Given the description of an element on the screen output the (x, y) to click on. 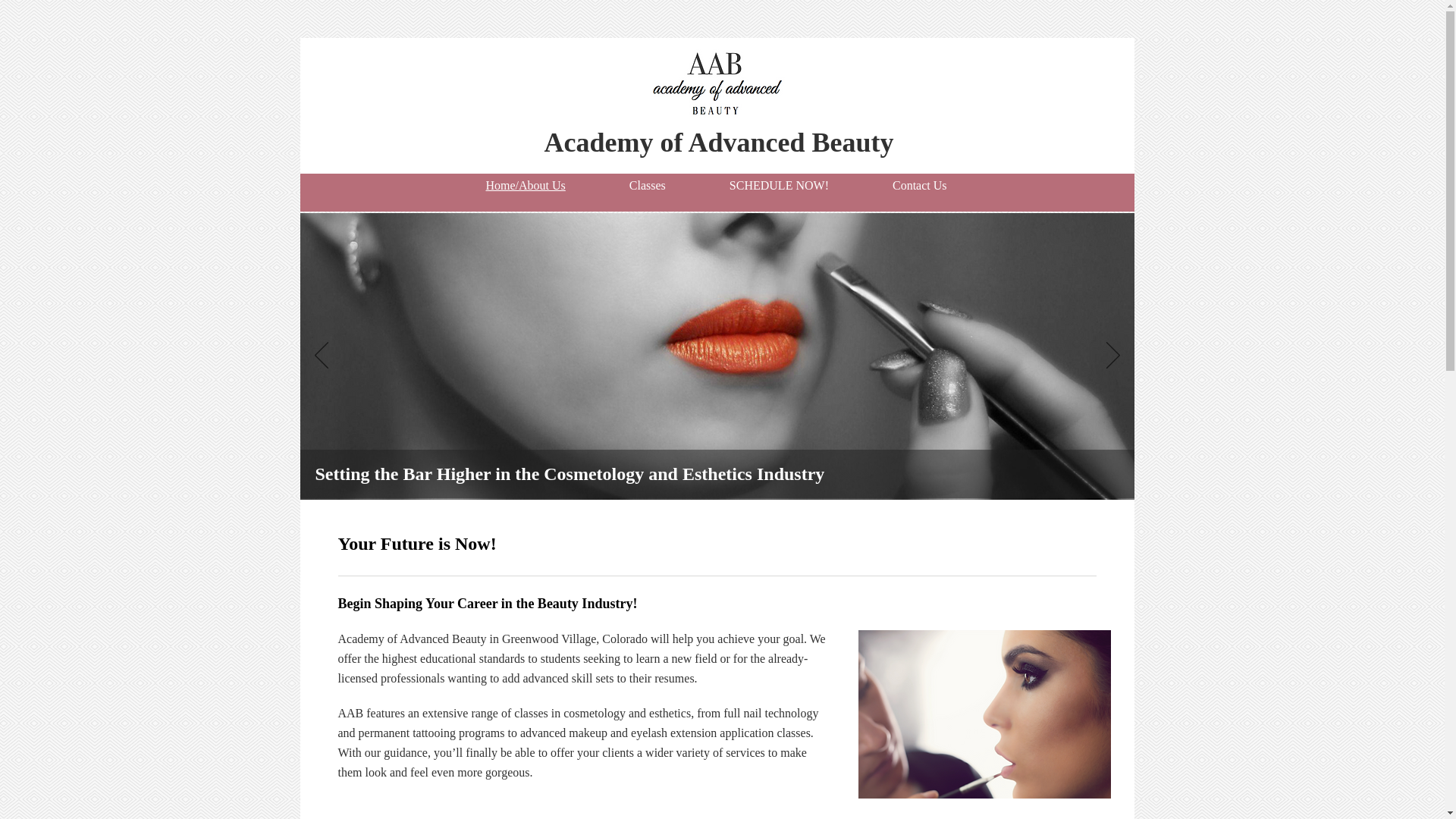
Contact Us (919, 185)
Classes (646, 185)
SCHEDULE NOW! (778, 185)
